Given the description of an element on the screen output the (x, y) to click on. 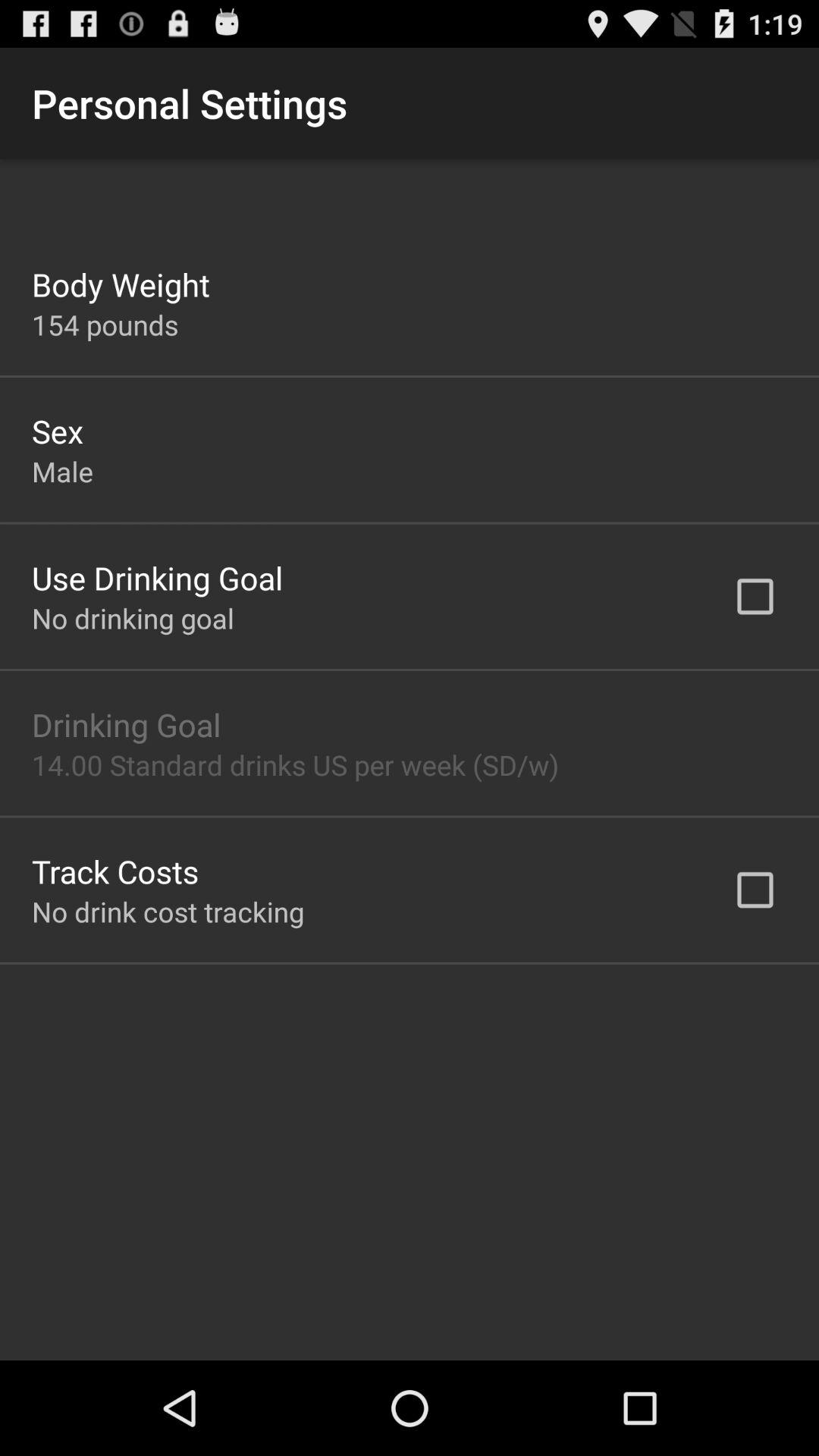
launch the app above the male (57, 430)
